Given the description of an element on the screen output the (x, y) to click on. 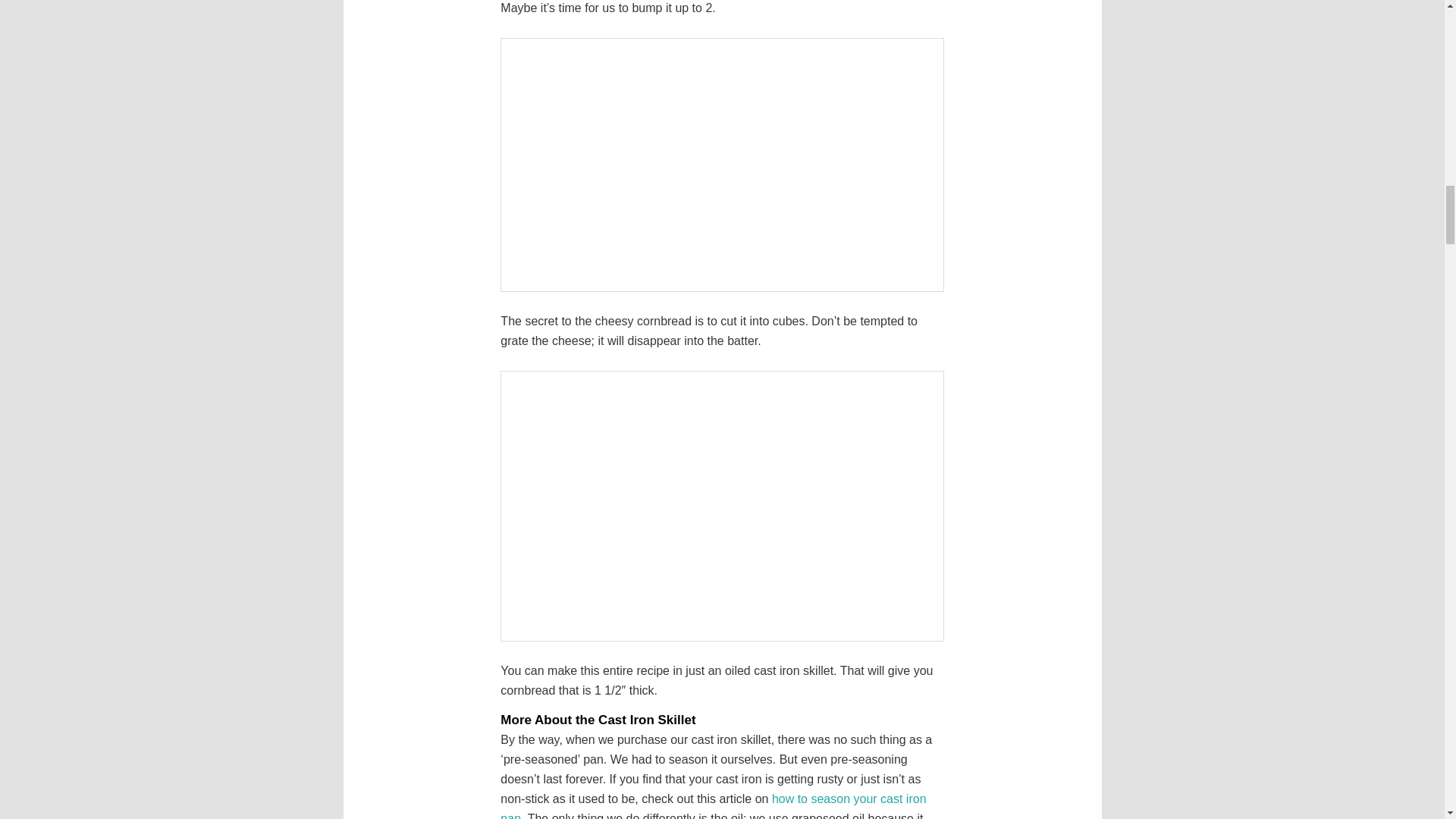
how to season your cast iron pan (713, 805)
